Given the description of an element on the screen output the (x, y) to click on. 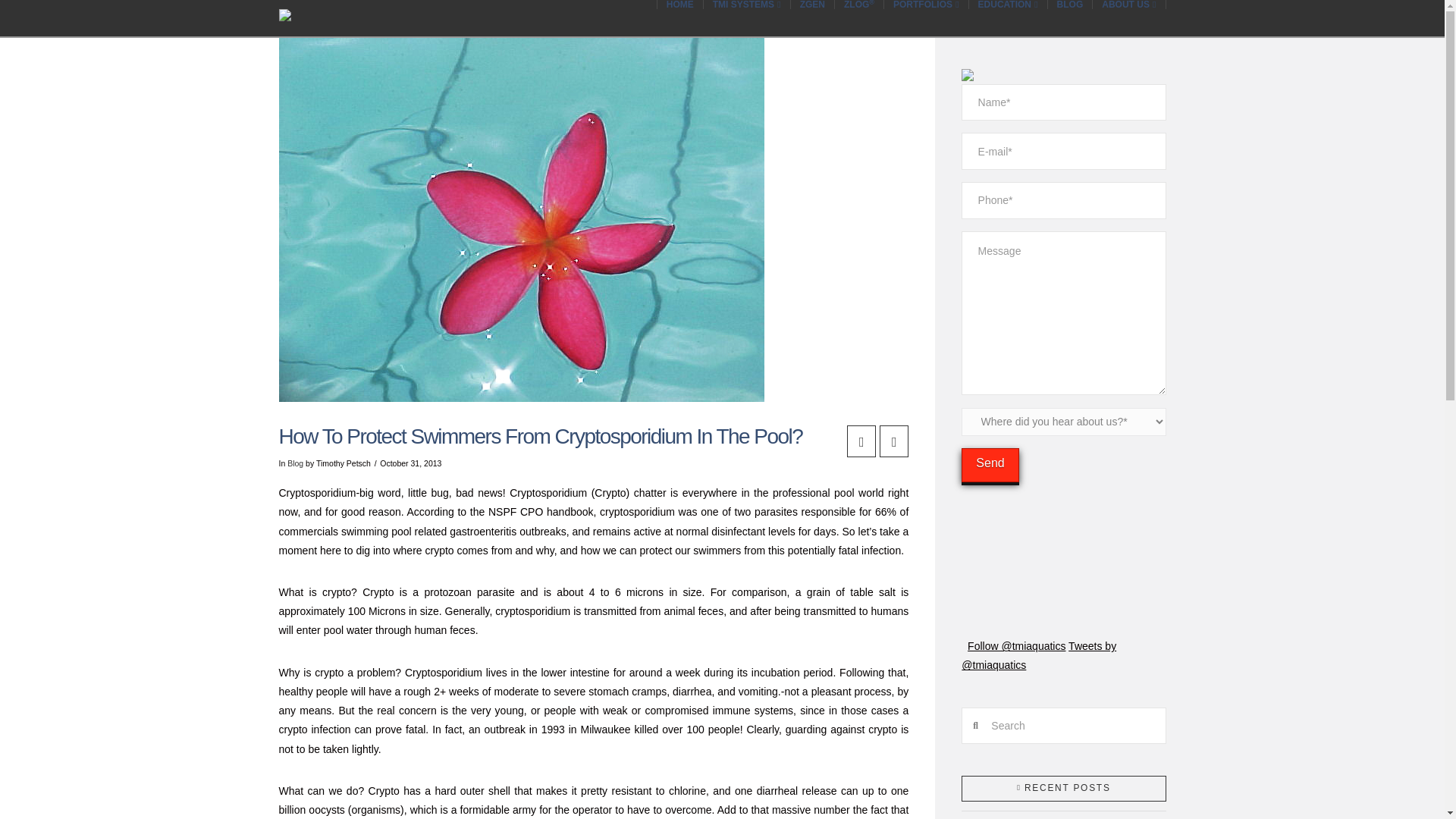
TMI SYSTEMS (746, 4)
ABOUT US (1129, 4)
BLOG (1070, 4)
PORTFOLIOS (926, 4)
ZGEN (812, 4)
Send (988, 464)
HOME (679, 4)
EDUCATION (1008, 4)
